Given the description of an element on the screen output the (x, y) to click on. 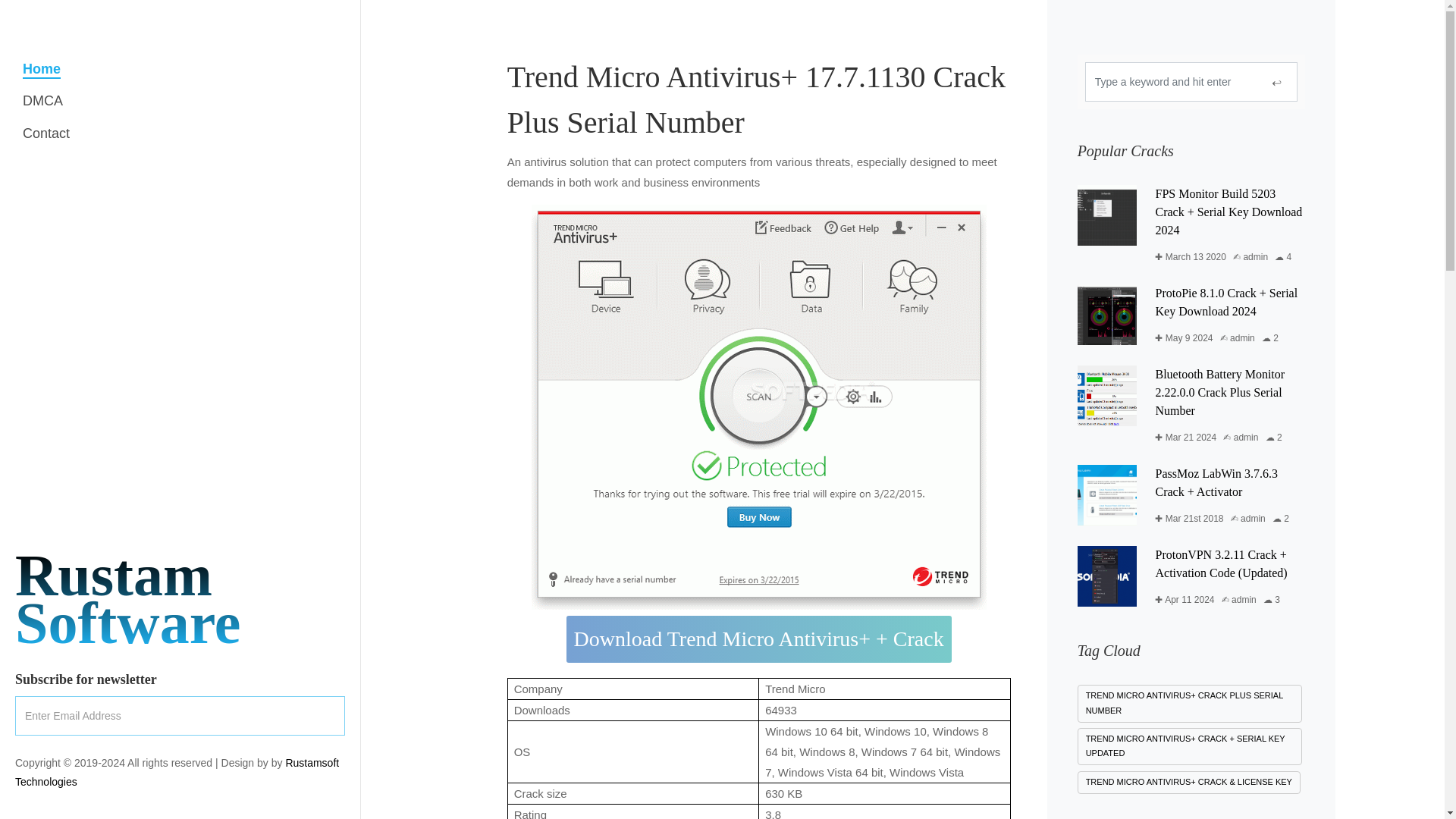
DMCA (42, 100)
Home (42, 69)
Bluetooth Battery Monitor 2.22.0.0 Crack Plus Serial Number (1219, 391)
Contact (127, 599)
Rustamsoft Technologies (46, 132)
